Given the description of an element on the screen output the (x, y) to click on. 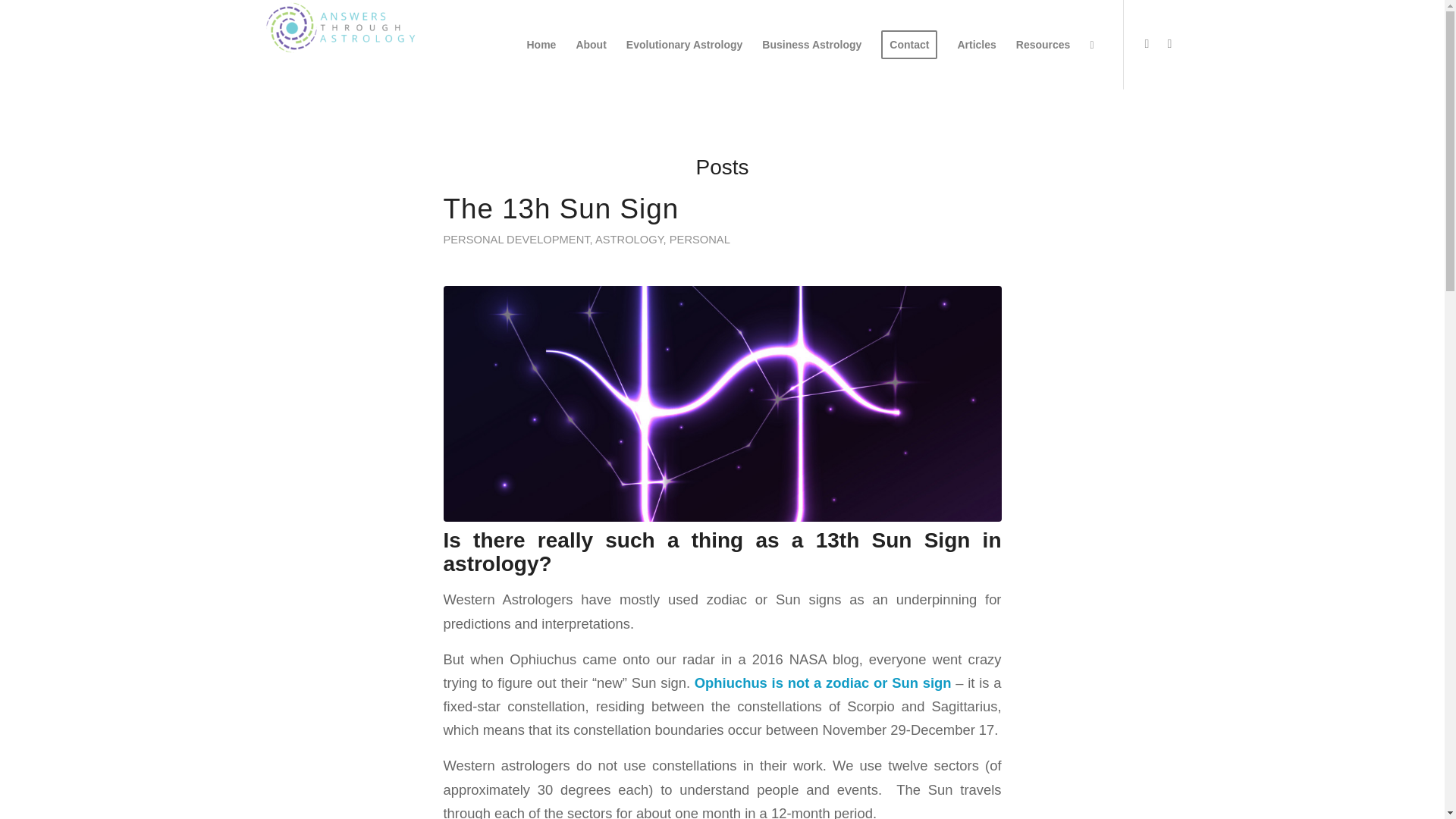
PERSONAL DEVELOPMENT (515, 239)
ASTROLOGY (629, 239)
The 13h Sun Sign (560, 208)
Evolutionary Astrology (683, 44)
Business Astrology (811, 44)
PERSONAL (699, 239)
Permanent Link: The 13h Sun Sign (560, 208)
Facebook (1169, 43)
LinkedIn (1146, 43)
Ophiuichus (721, 403)
